Given the description of an element on the screen output the (x, y) to click on. 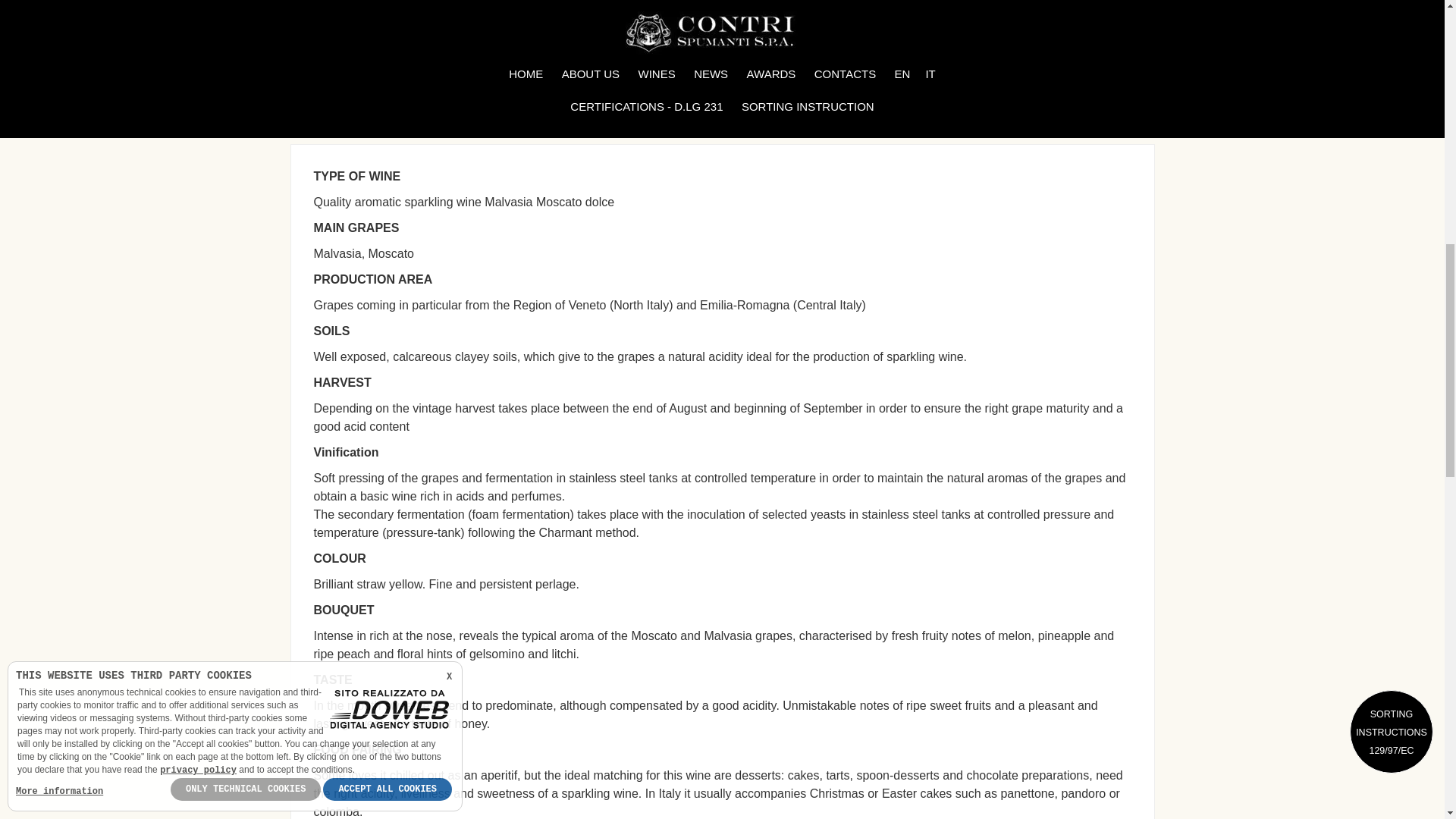
Download PDF (743, 49)
Go back to the wines (868, 49)
